Given the description of an element on the screen output the (x, y) to click on. 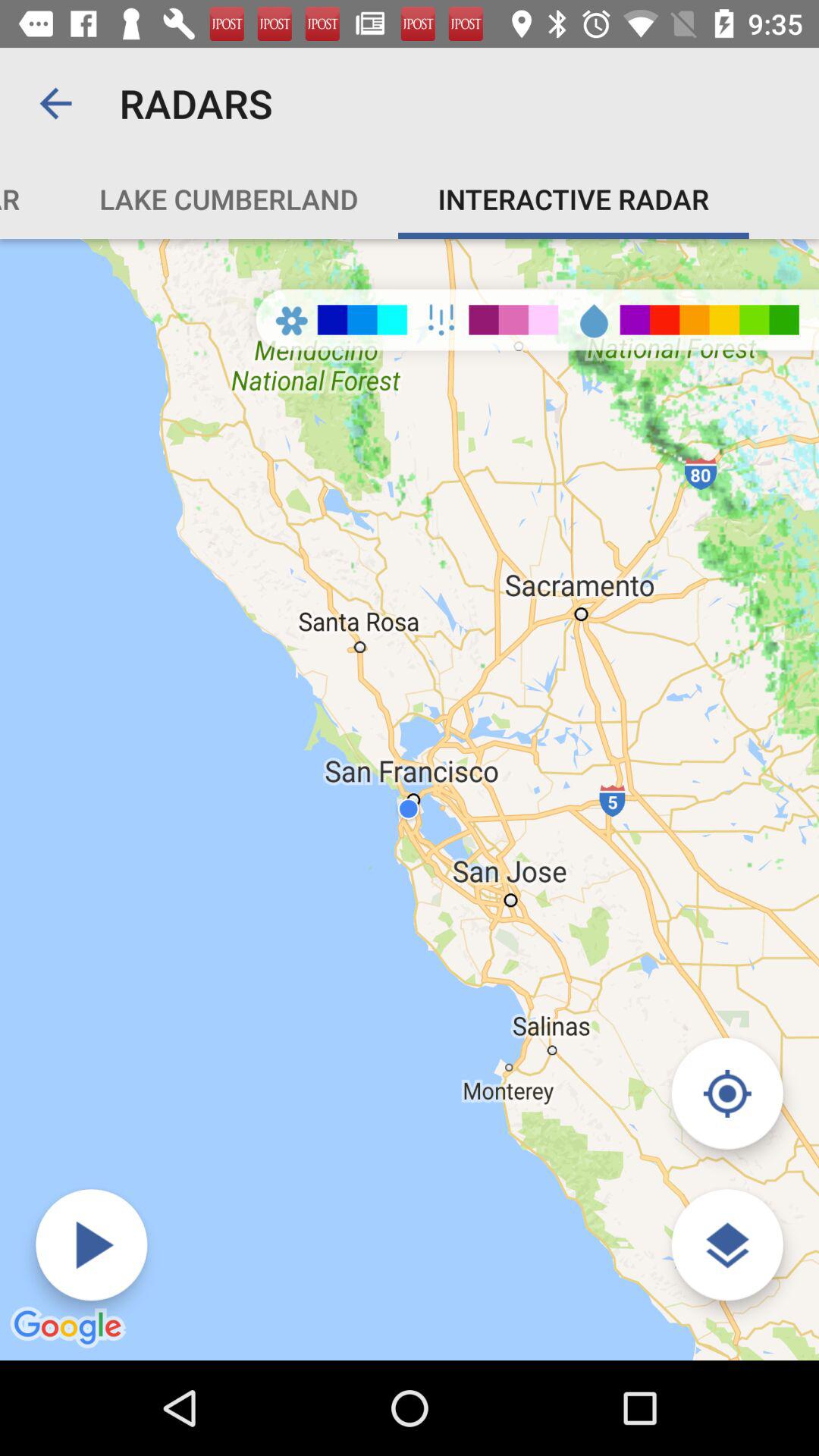
open the item below the rough river radar (409, 799)
